Given the description of an element on the screen output the (x, y) to click on. 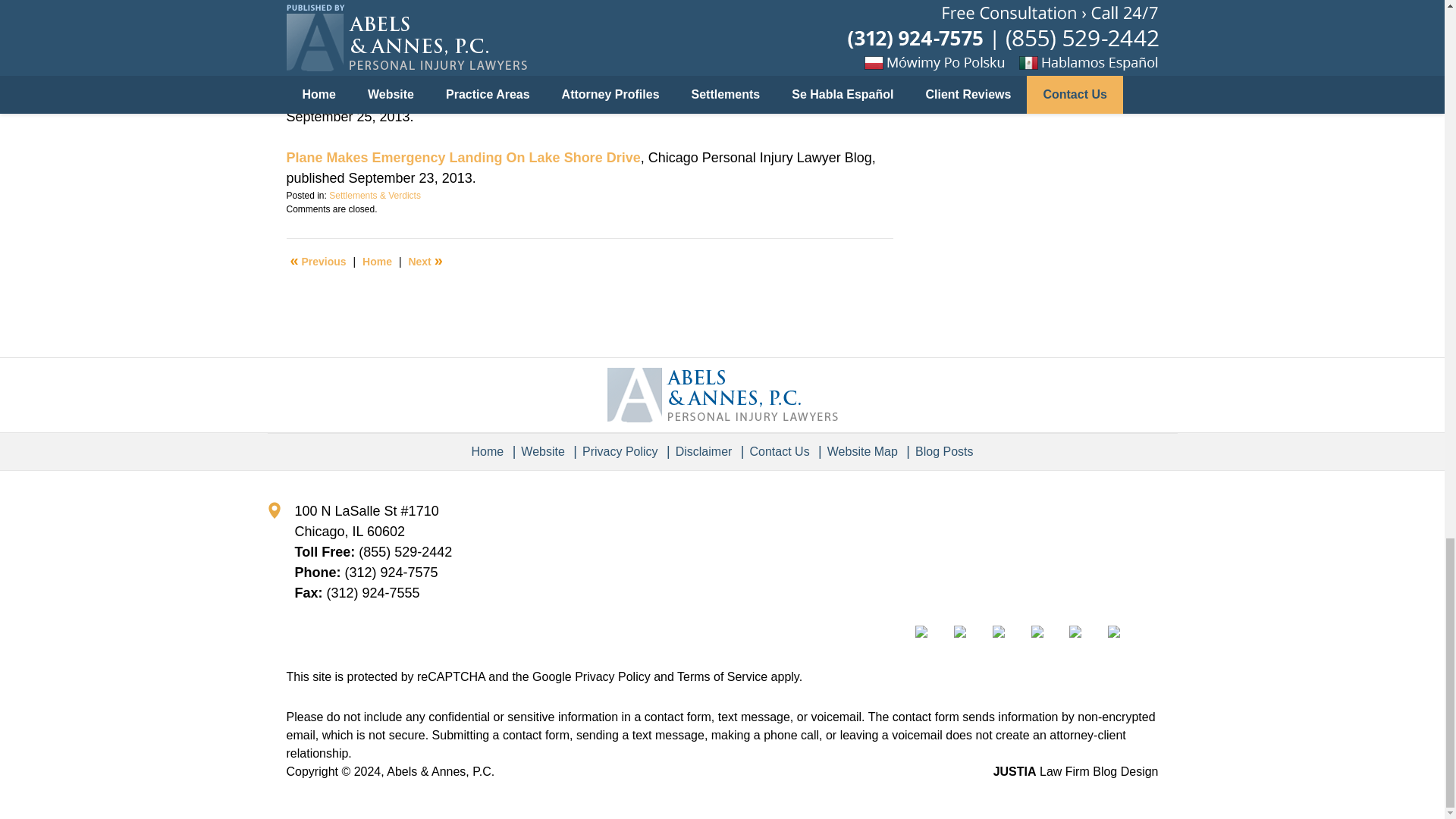
CTA Blue Lines Collide, Dozens Injured (424, 261)
Feed (1125, 631)
LinkedIn (1009, 631)
YouTube (1085, 631)
Twitter (970, 631)
NFL Wide Receiver Breaks Arm in Car Accident (318, 261)
Justia (1047, 631)
Facebook (932, 631)
